Given the description of an element on the screen output the (x, y) to click on. 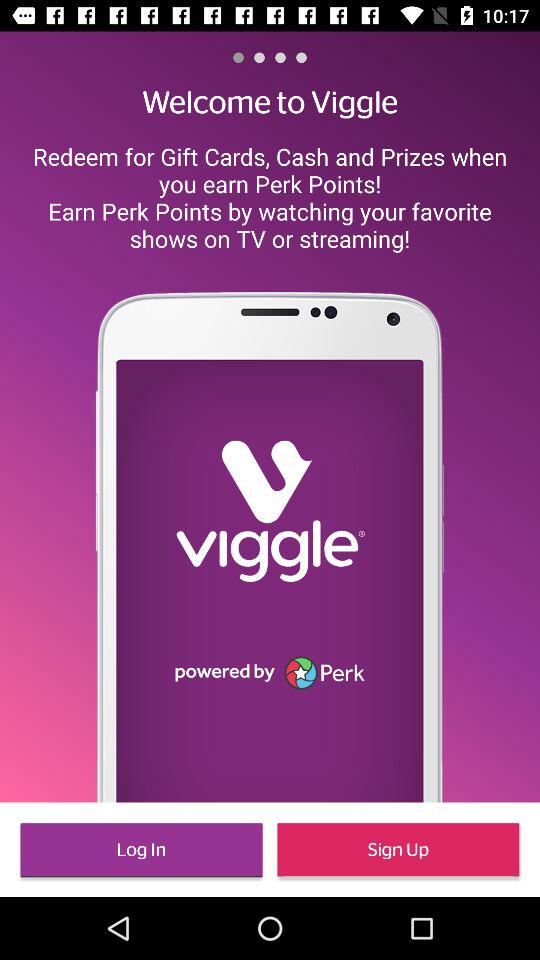
turn off item next to log in icon (398, 849)
